Given the description of an element on the screen output the (x, y) to click on. 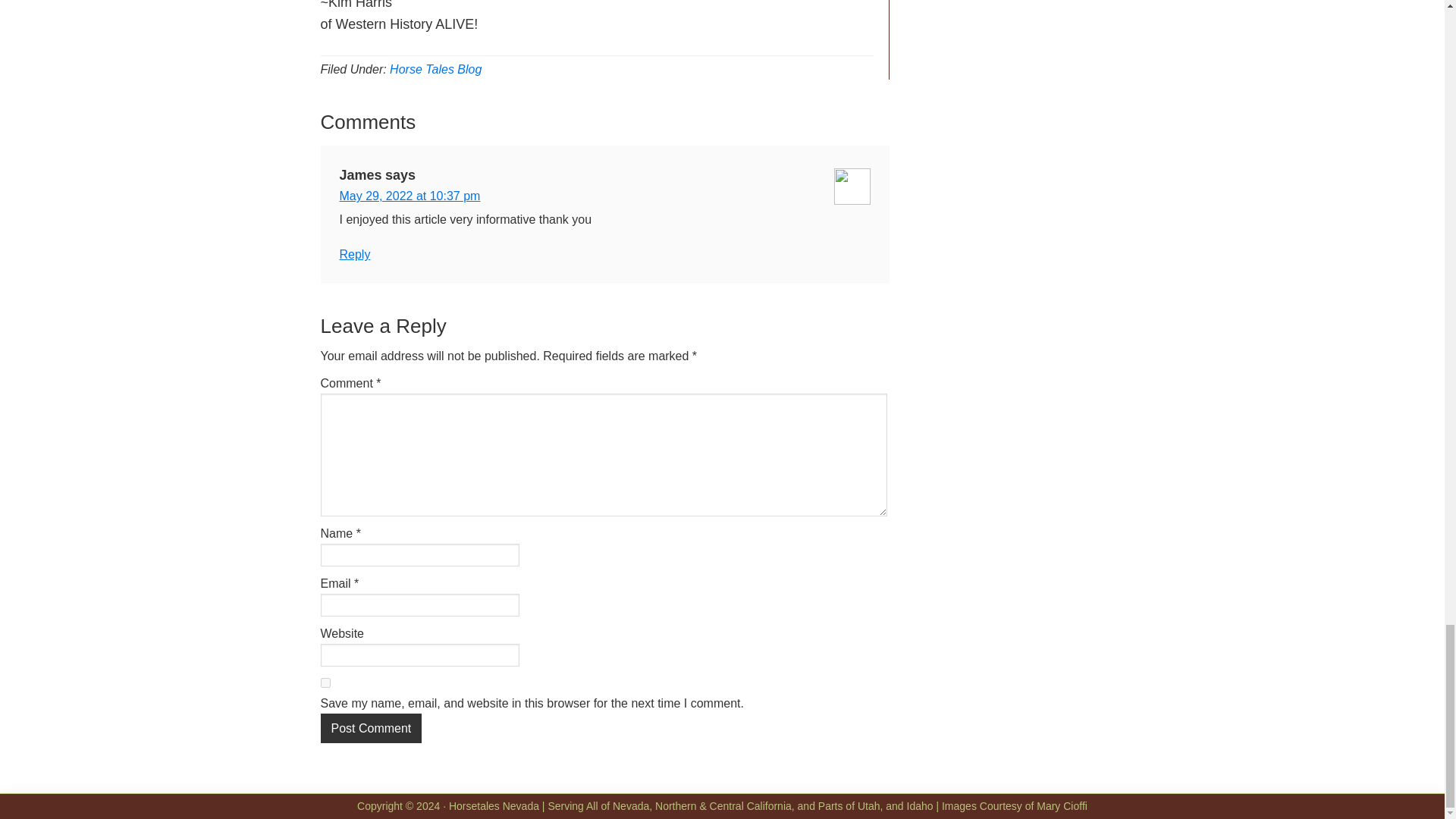
yes (325, 682)
Post Comment (371, 727)
May 29, 2022 at 10:37 pm (409, 195)
Horse Tales Blog (435, 69)
Reply (355, 254)
Post Comment (371, 727)
